Given the description of an element on the screen output the (x, y) to click on. 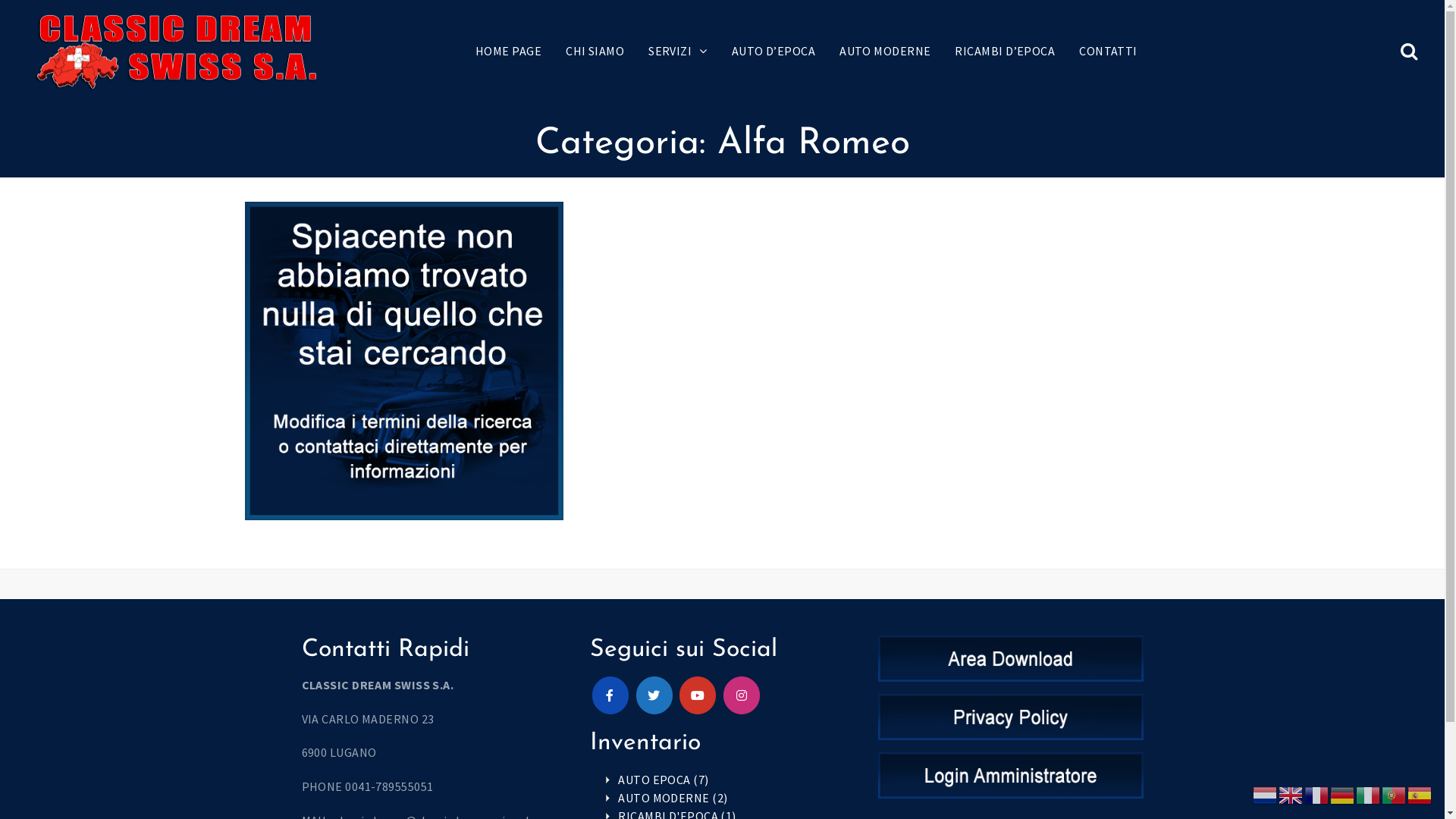
Portuguese Element type: hover (1394, 793)
AUTO MODERNE (2) Element type: text (673, 797)
German Element type: hover (1342, 793)
Dutch Element type: hover (1265, 793)
French Element type: hover (1317, 793)
SERVIZI Element type: text (677, 51)
Classic Dream Swiss on Twitter Element type: hover (654, 695)
Classic Dream Swiss on Instagram Element type: hover (741, 695)
AUTO MODERNE Element type: text (884, 51)
AUTO EPOCA (7) Element type: text (664, 779)
CONTATTI Element type: text (1107, 51)
Italian Element type: hover (1368, 793)
Classic Dream Swiss on Youtube Element type: hover (697, 695)
CHI SIAMO Element type: text (594, 51)
Classic Dream Swiss on Facebook Element type: hover (610, 695)
English Element type: hover (1291, 793)
Spanish Element type: hover (1420, 793)
HOME PAGE Element type: text (508, 51)
